Given the description of an element on the screen output the (x, y) to click on. 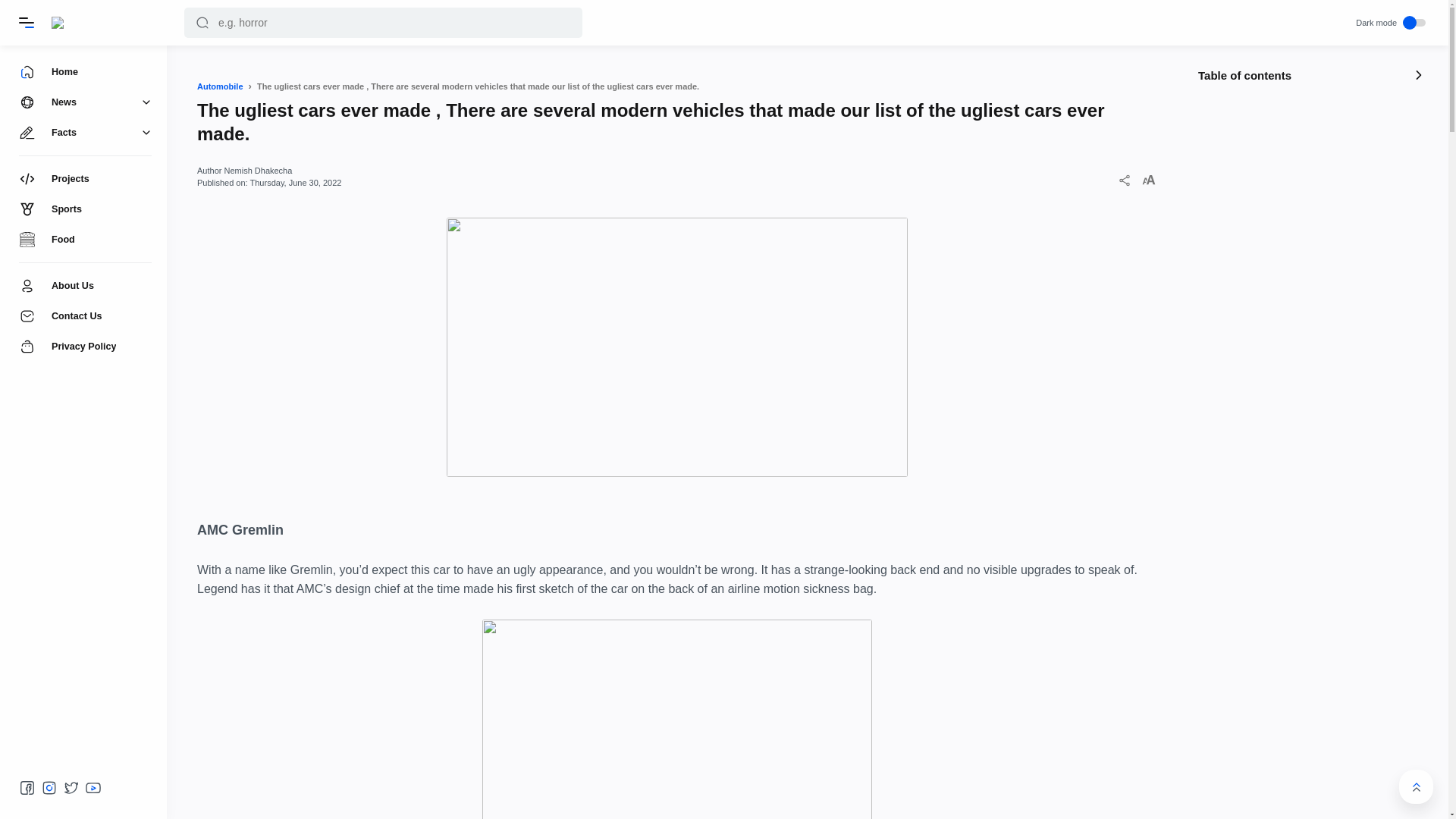
Twitter (71, 787)
Facebook (26, 787)
YOUTUBE NEWS (1320, 219)
Bhuvan Bam (1257, 219)
BOLLYWOOD NEWS (1327, 297)
Crowdy World (81, 22)
Youtube (92, 787)
Back to top (1415, 786)
Automobile (219, 85)
